Given the description of an element on the screen output the (x, y) to click on. 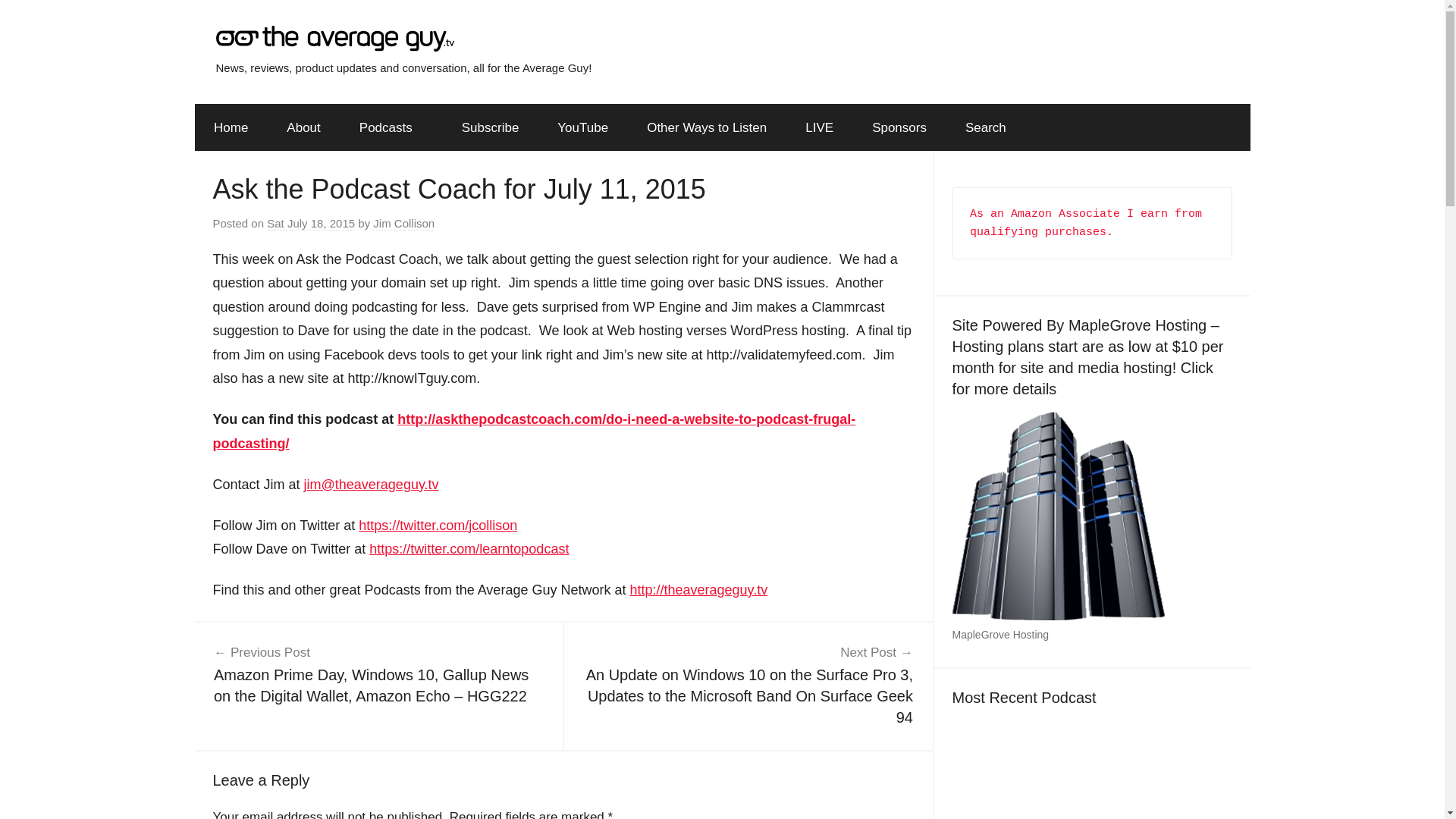
Podcasts (390, 128)
Search (984, 128)
LIVE (819, 128)
As an Amazon Associate I earn from qualifying purchases. (1088, 223)
About (303, 128)
View all posts by Jim Collison (402, 223)
Home (229, 128)
Sat July 18, 2015 (310, 223)
Subscribe (490, 128)
